Given the description of an element on the screen output the (x, y) to click on. 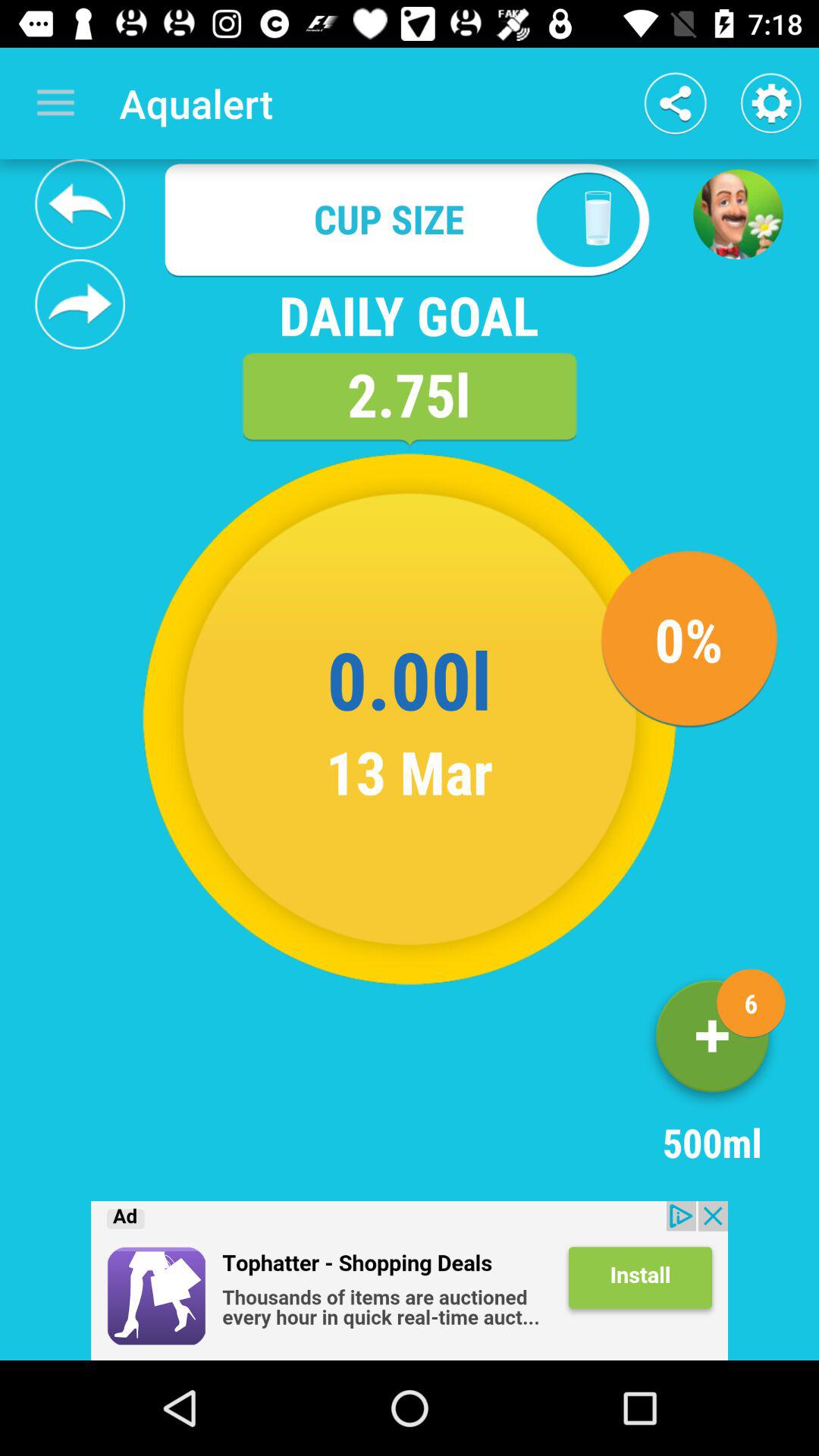
go back (80, 204)
